Given the description of an element on the screen output the (x, y) to click on. 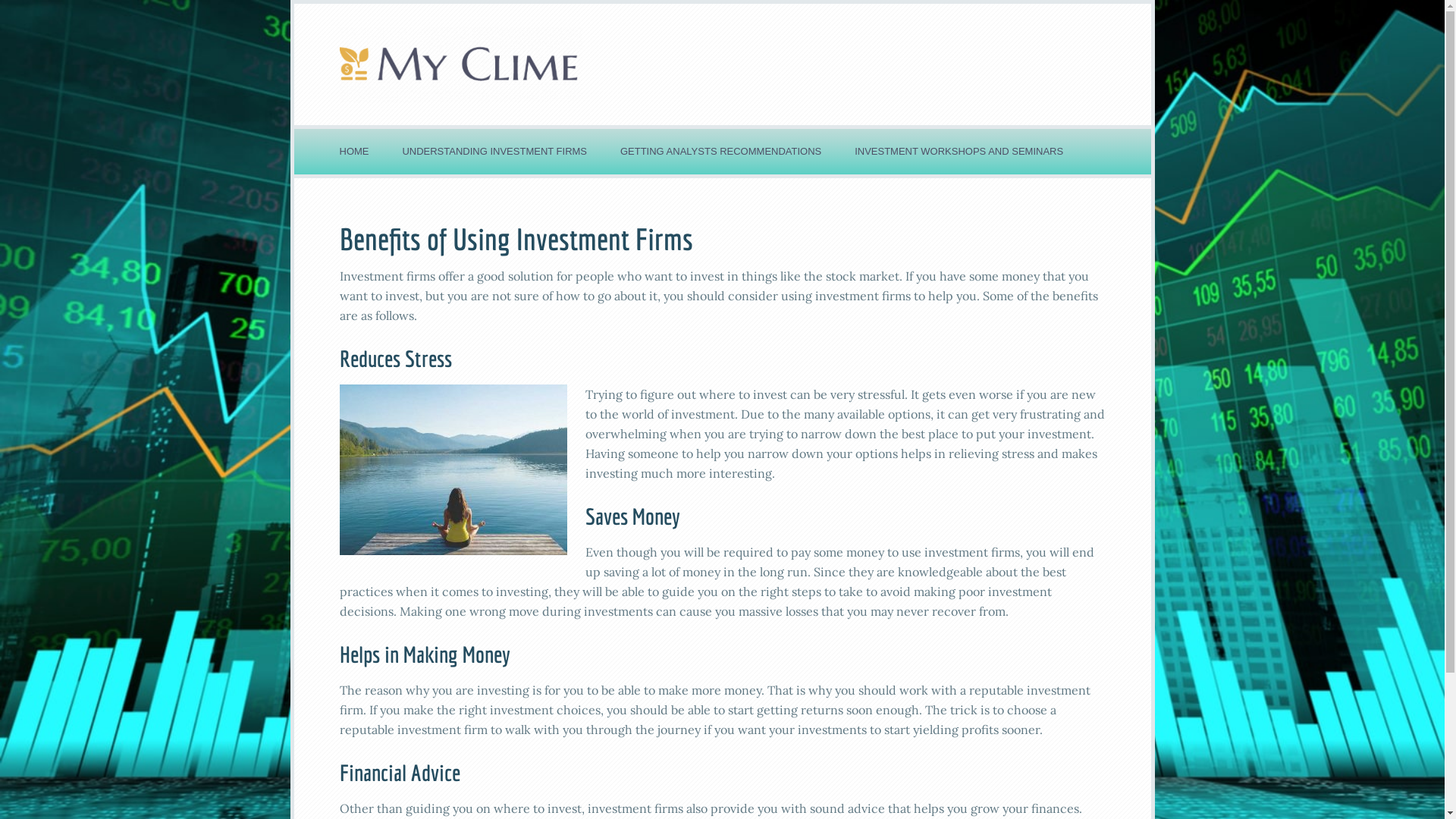
HOME Element type: text (354, 151)
GETTING ANALYSTS RECOMMENDATIONS Element type: text (720, 151)
myclime.com.au Element type: text (722, 64)
INVESTMENT WORKSHOPS AND SEMINARS Element type: text (958, 151)
UNDERSTANDING INVESTMENT FIRMS Element type: text (494, 151)
